Given the description of an element on the screen output the (x, y) to click on. 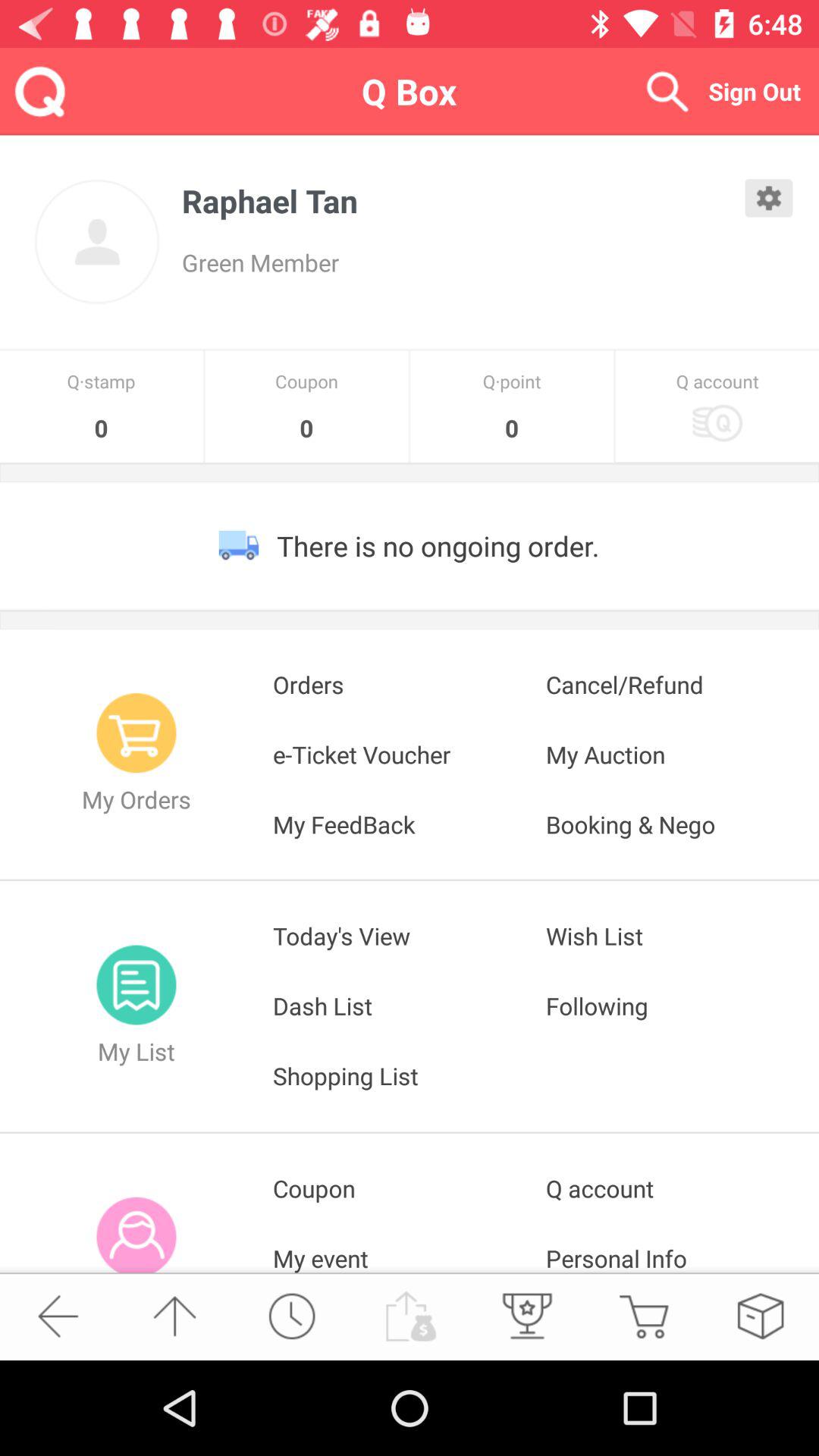
jump until the my feedback icon (409, 824)
